Given the description of an element on the screen output the (x, y) to click on. 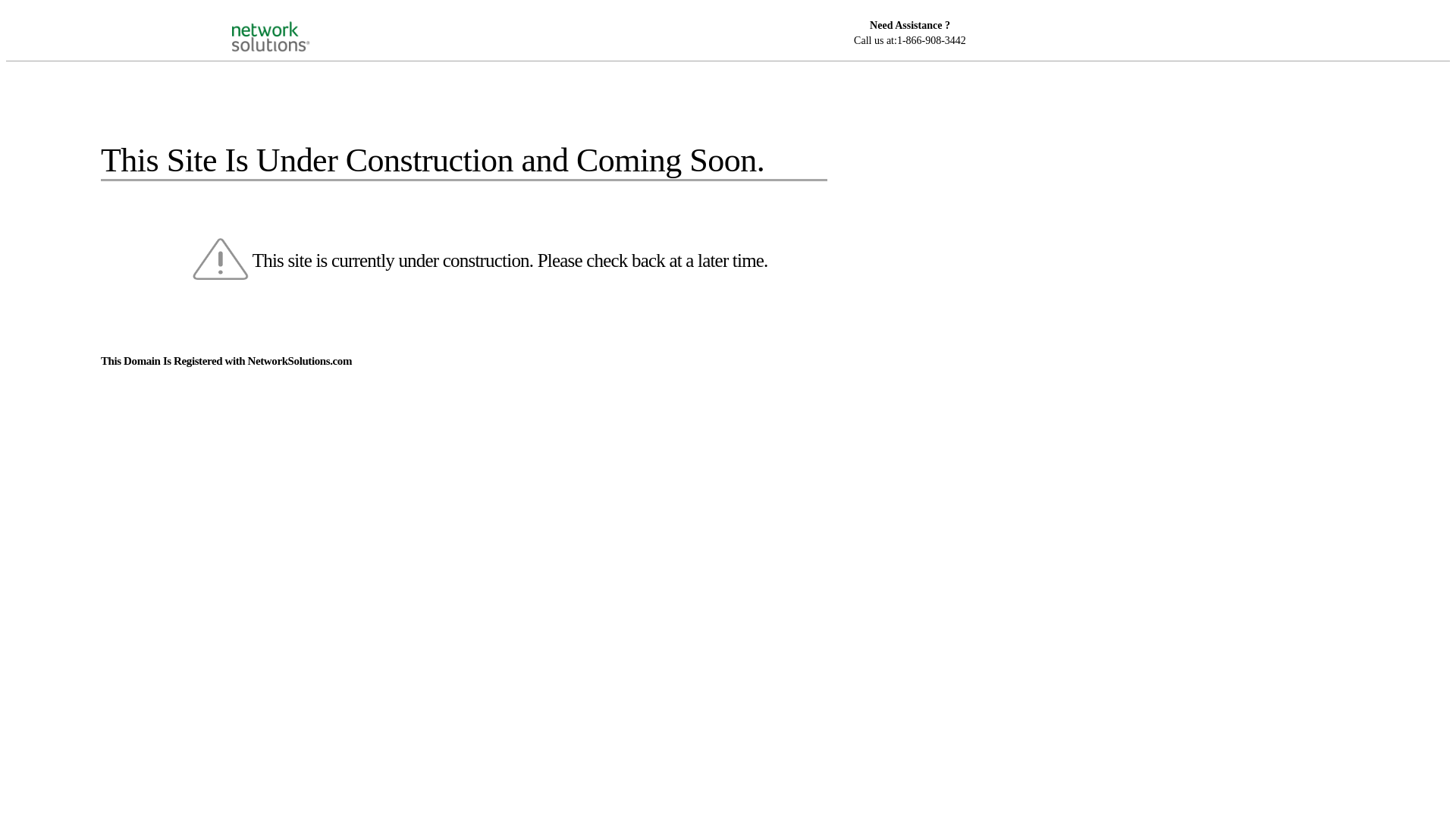
NetworkSolutions.com Home Element type: hover (289, 23)
